Given the description of an element on the screen output the (x, y) to click on. 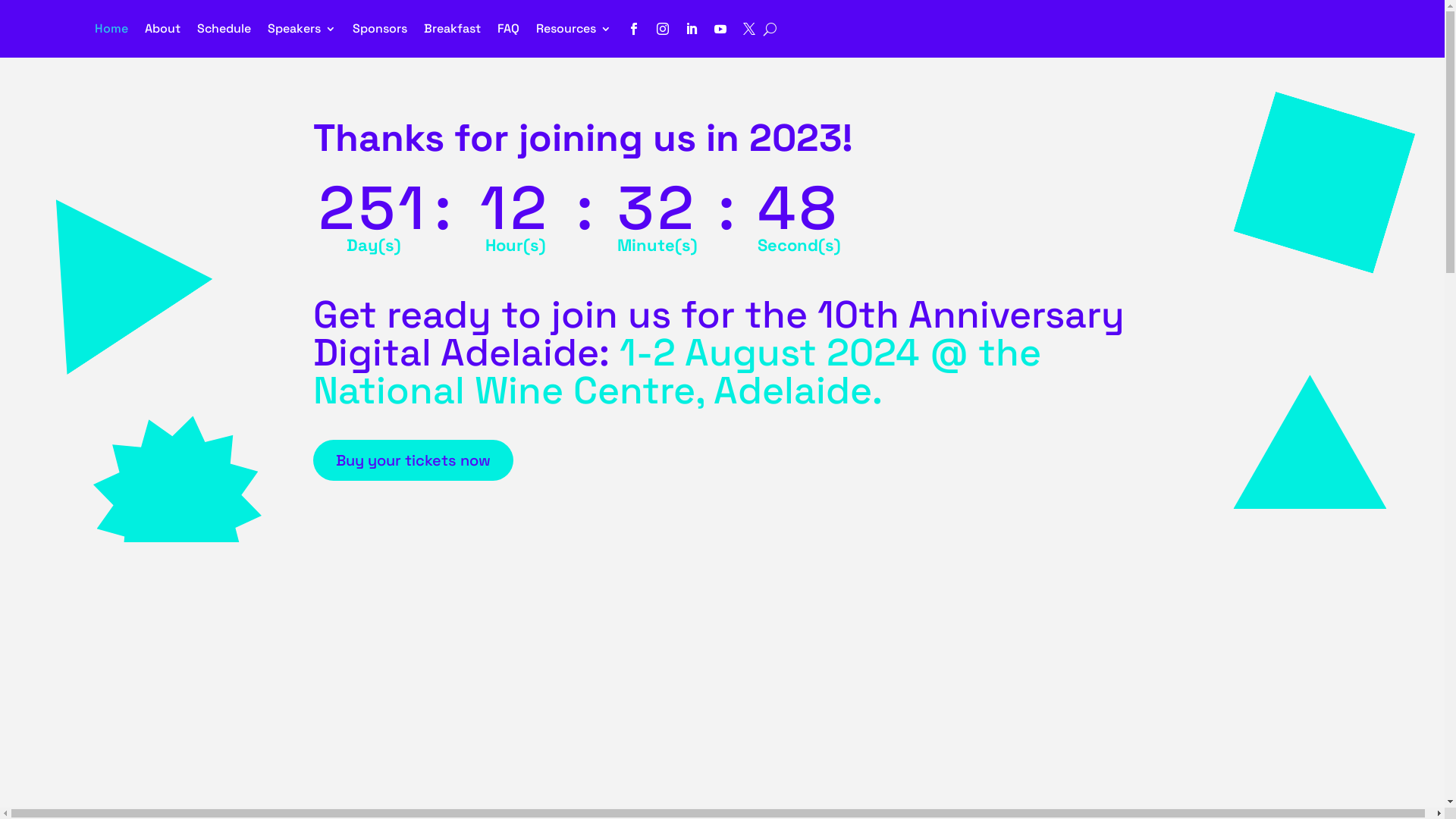
Home Element type: text (111, 28)
About Element type: text (162, 28)
Sponsors Element type: text (379, 28)
Schedule Element type: text (224, 28)
Resources Element type: text (573, 28)
Speakers Element type: text (301, 28)
FAQ Element type: text (508, 28)
Buy your tickets now Element type: text (412, 459)
Breakfast Element type: text (451, 28)
